Given the description of an element on the screen output the (x, y) to click on. 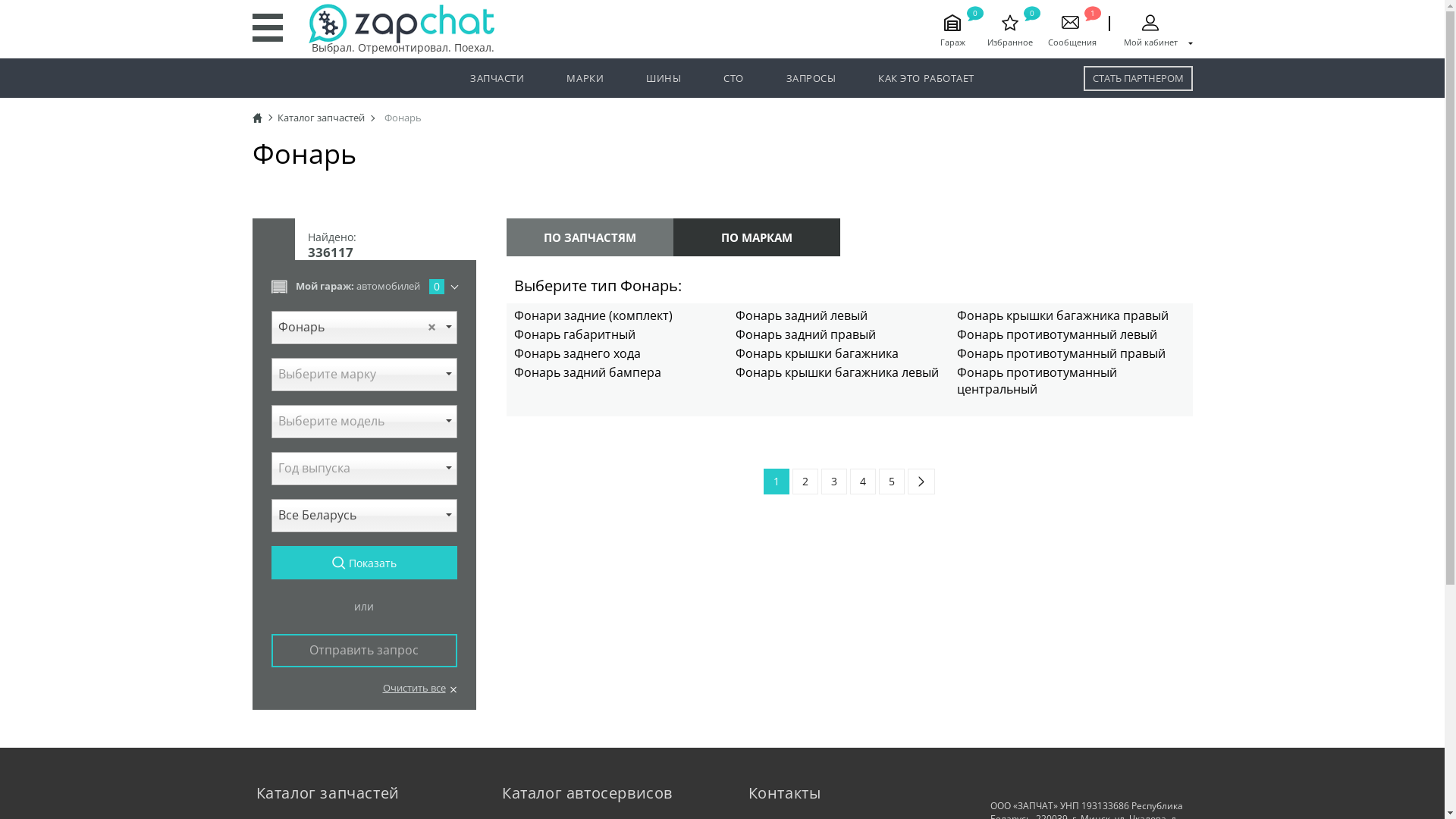
> Element type: text (921, 481)
4 Element type: text (862, 481)
3 Element type: text (834, 481)
1 Element type: text (776, 481)
2 Element type: text (805, 481)
5 Element type: text (891, 481)
